Given the description of an element on the screen output the (x, y) to click on. 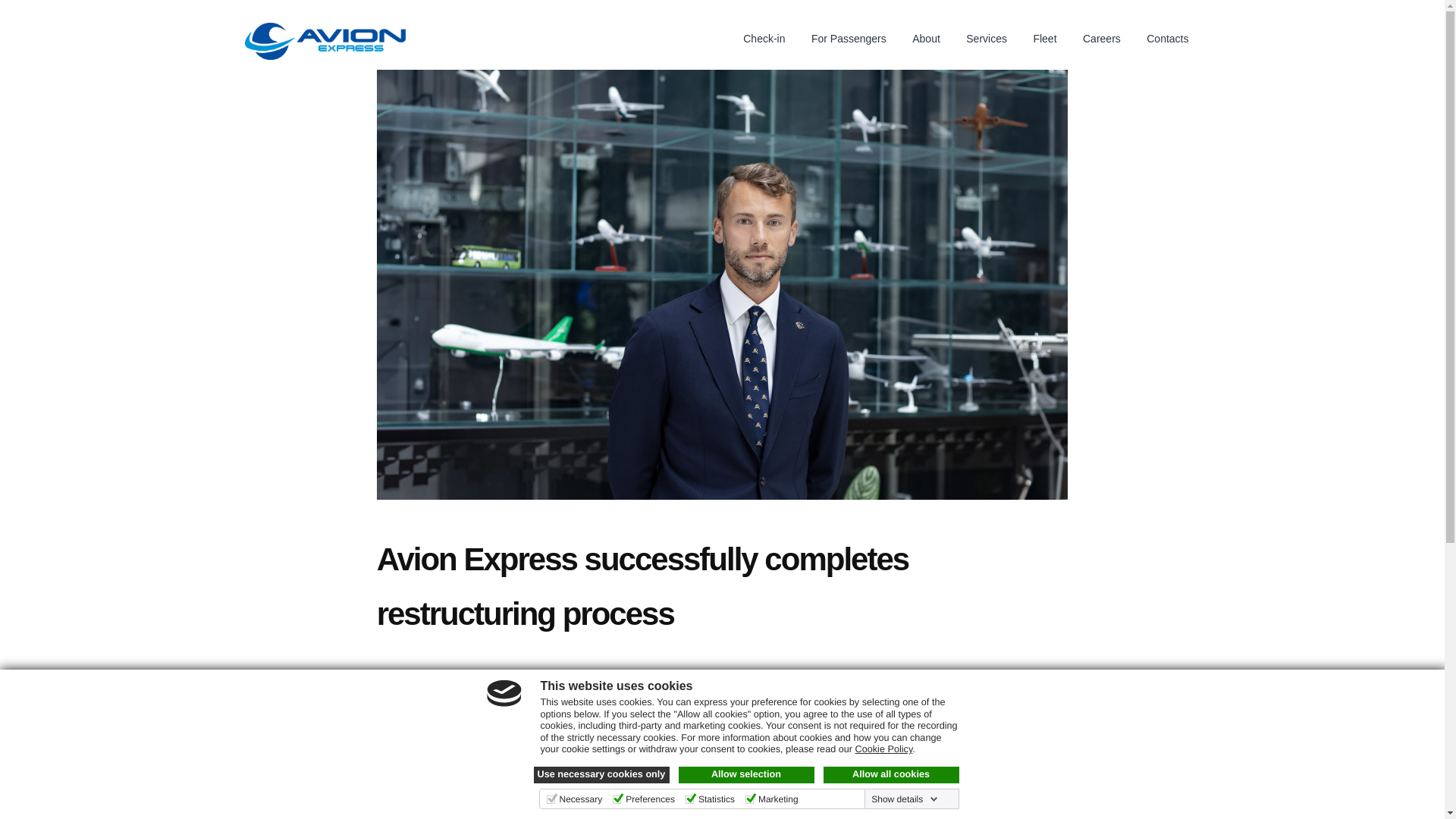
About (926, 38)
Show details (903, 799)
Use necessary cookies only (601, 774)
For Passengers (848, 38)
Allow all cookies (891, 774)
Check-in (763, 38)
Allow selection (745, 774)
Cookie Policy (884, 748)
